Given the description of an element on the screen output the (x, y) to click on. 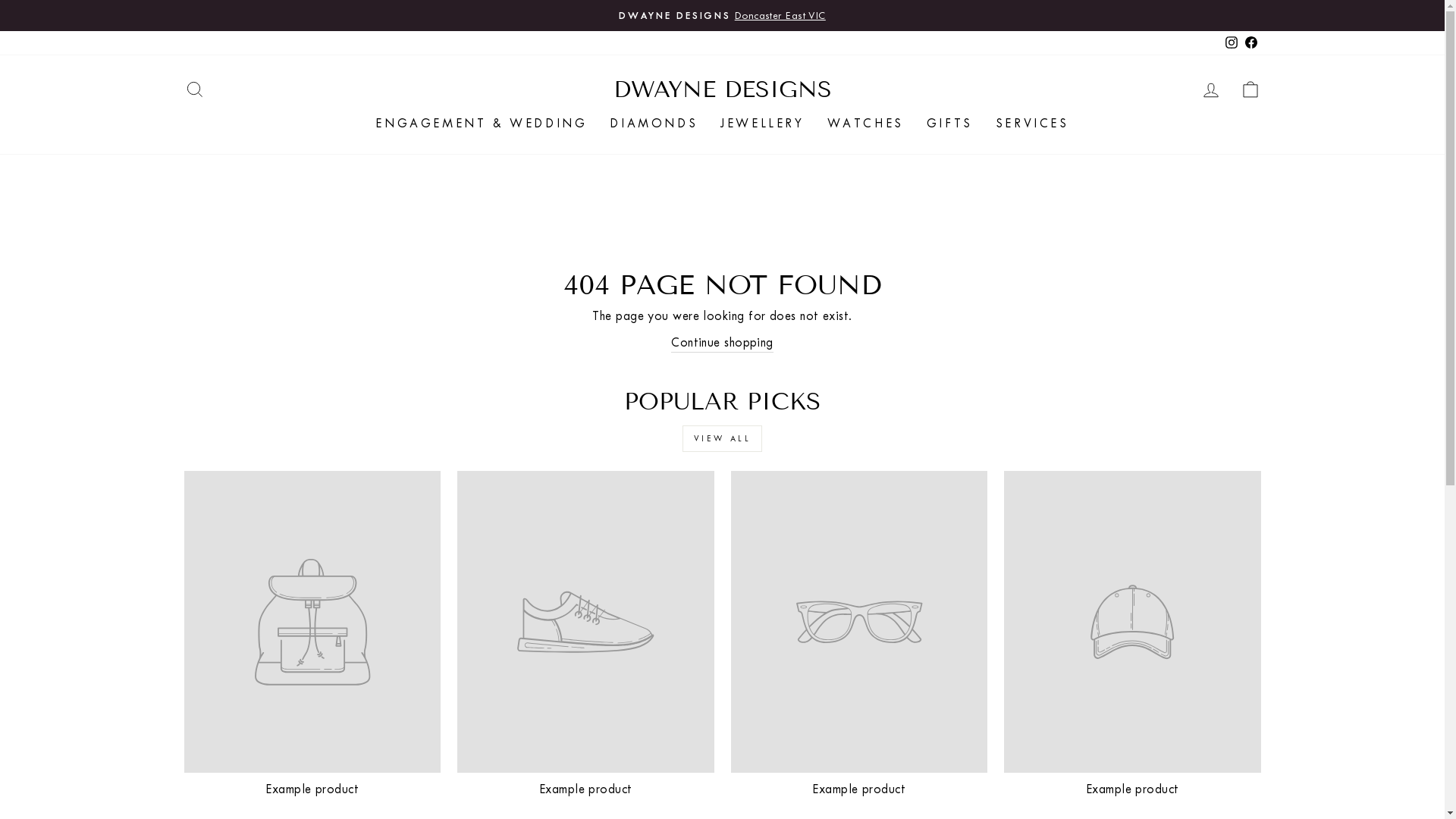
DWAYNE DESIGNSDoncaster East VIC Element type: text (722, 15)
Instagram Element type: text (1230, 42)
VIEW ALL Element type: text (722, 438)
CART Element type: text (1249, 88)
SERVICES Element type: text (1032, 123)
JEWELLERY Element type: text (762, 123)
DWAYNE DESIGNS Element type: text (721, 89)
ENGAGEMENT & WEDDING Element type: text (481, 123)
Skip to content Element type: text (0, 0)
SEARCH Element type: text (193, 88)
Facebook Element type: text (1250, 42)
DIAMONDS Element type: text (653, 123)
LOG IN Element type: text (1210, 88)
WATCHES Element type: text (865, 123)
Continue shopping Element type: text (722, 342)
GIFTS Element type: text (949, 123)
